Given the description of an element on the screen output the (x, y) to click on. 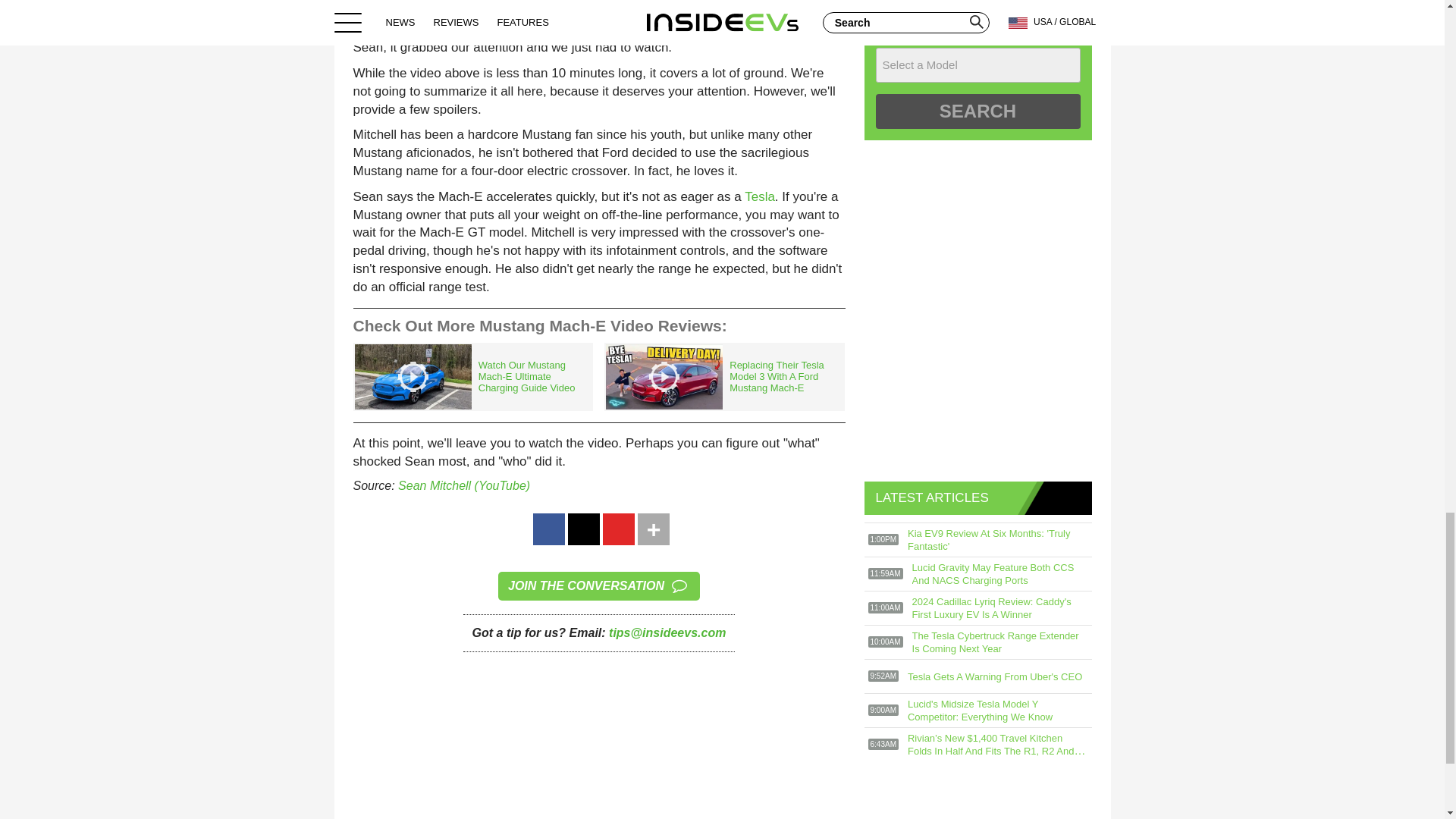
Tesla (759, 196)
JOIN THE CONVERSATION (598, 585)
Search (977, 111)
